Given the description of an element on the screen output the (x, y) to click on. 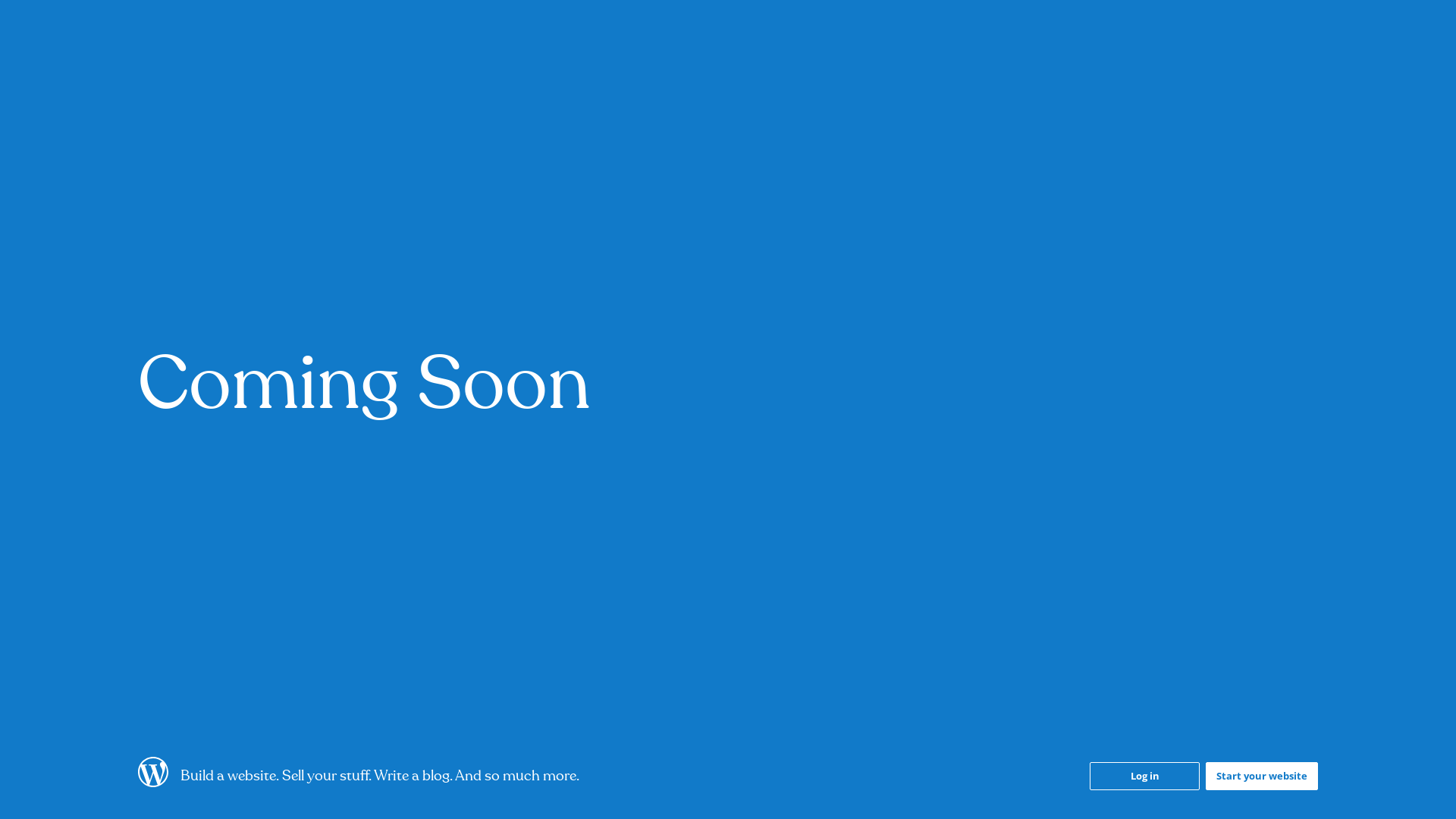
Start your website Element type: text (1261, 776)
WordPress.com Element type: text (153, 782)
Log in Element type: text (1144, 776)
